Given the description of an element on the screen output the (x, y) to click on. 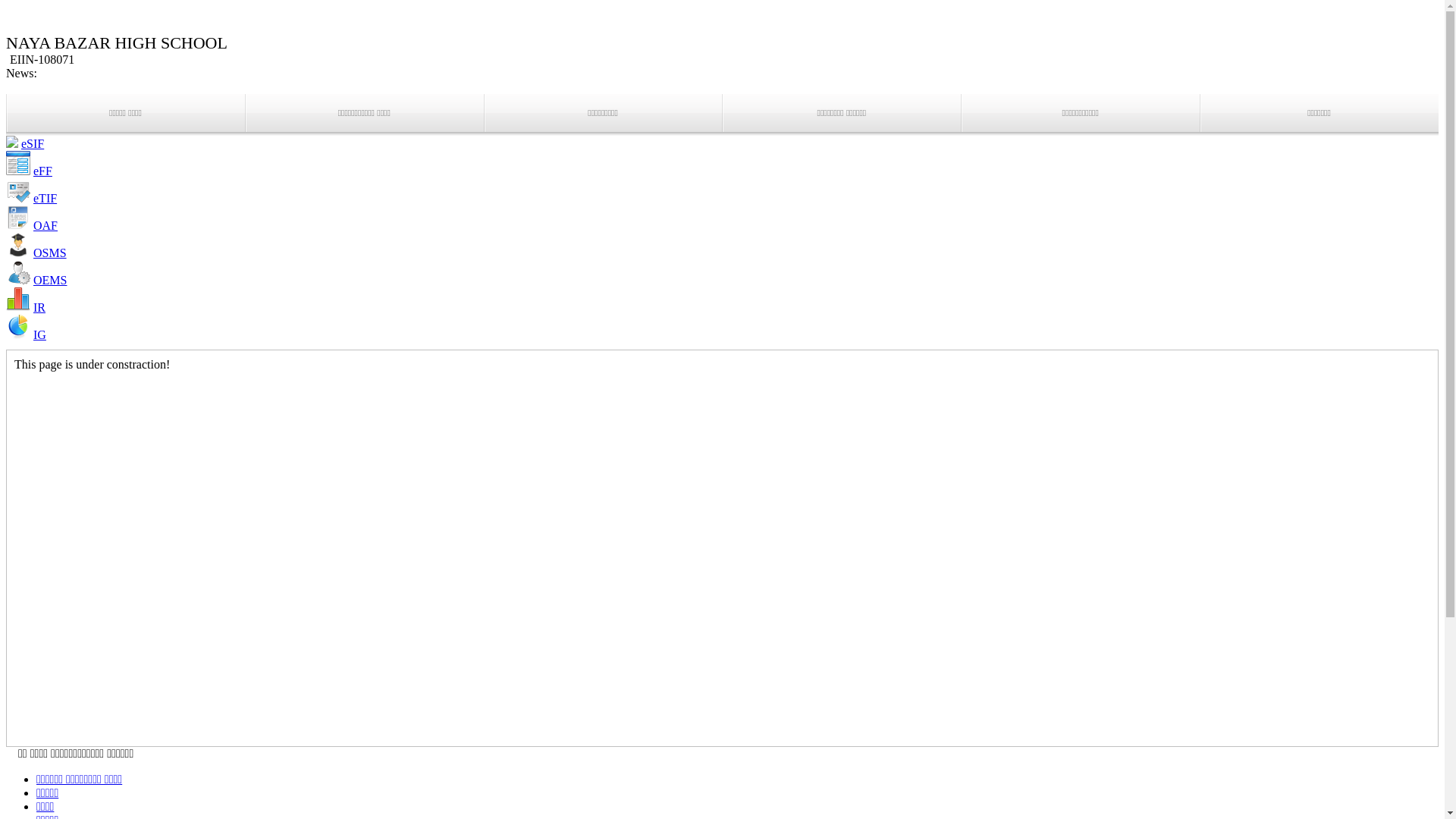
OSMS Element type: text (49, 252)
IG Element type: text (39, 334)
OAF Element type: text (45, 225)
OEMS Element type: text (49, 279)
IR Element type: text (39, 307)
eFF Element type: text (42, 170)
eTIF Element type: text (44, 197)
eSIF Element type: text (32, 143)
